Given the description of an element on the screen output the (x, y) to click on. 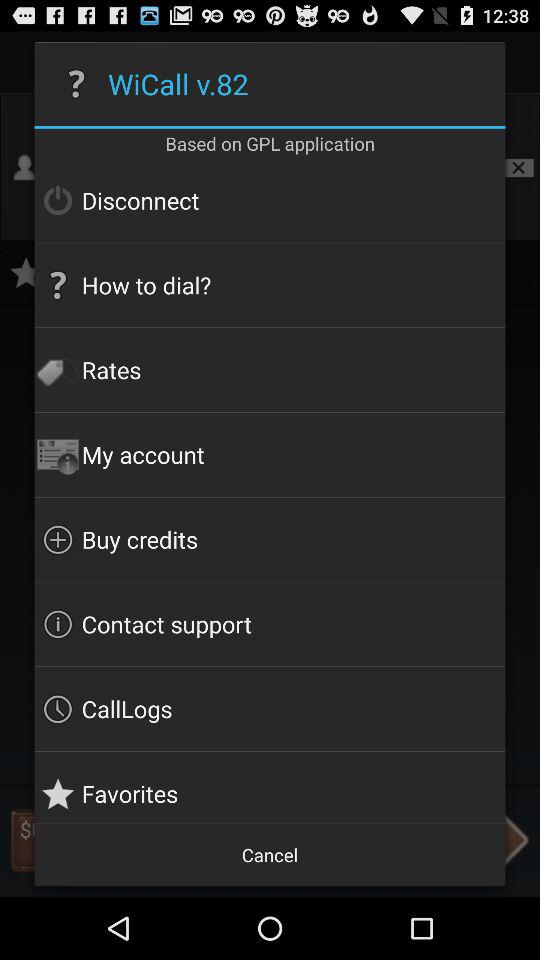
scroll to the rates (269, 370)
